Given the description of an element on the screen output the (x, y) to click on. 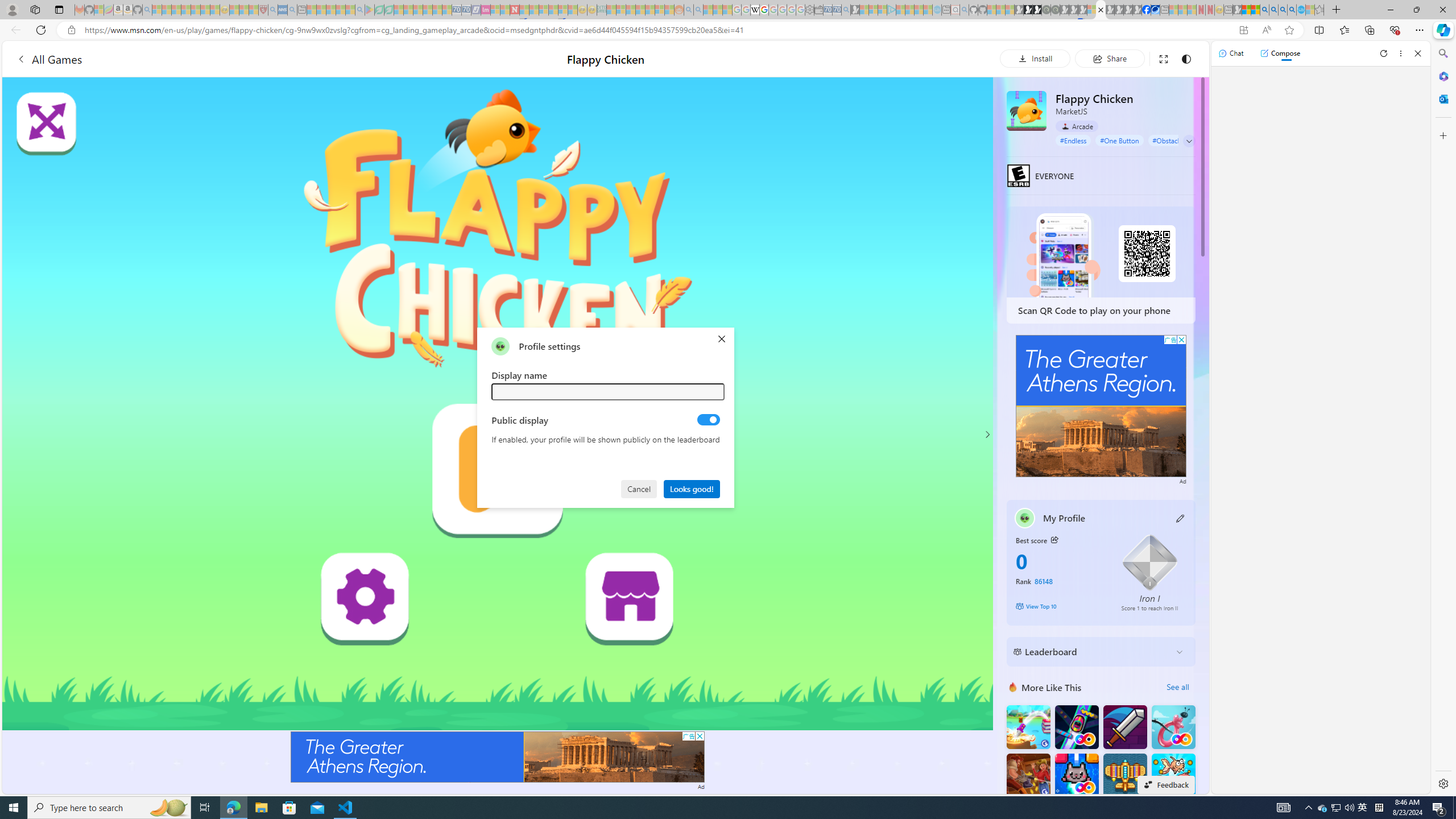
utah sues federal government - Search - Sleeping (291, 9)
Full screen (1163, 58)
Advertisement (1101, 405)
App available. Install Flappy Chicken (1243, 29)
